Given the description of an element on the screen output the (x, y) to click on. 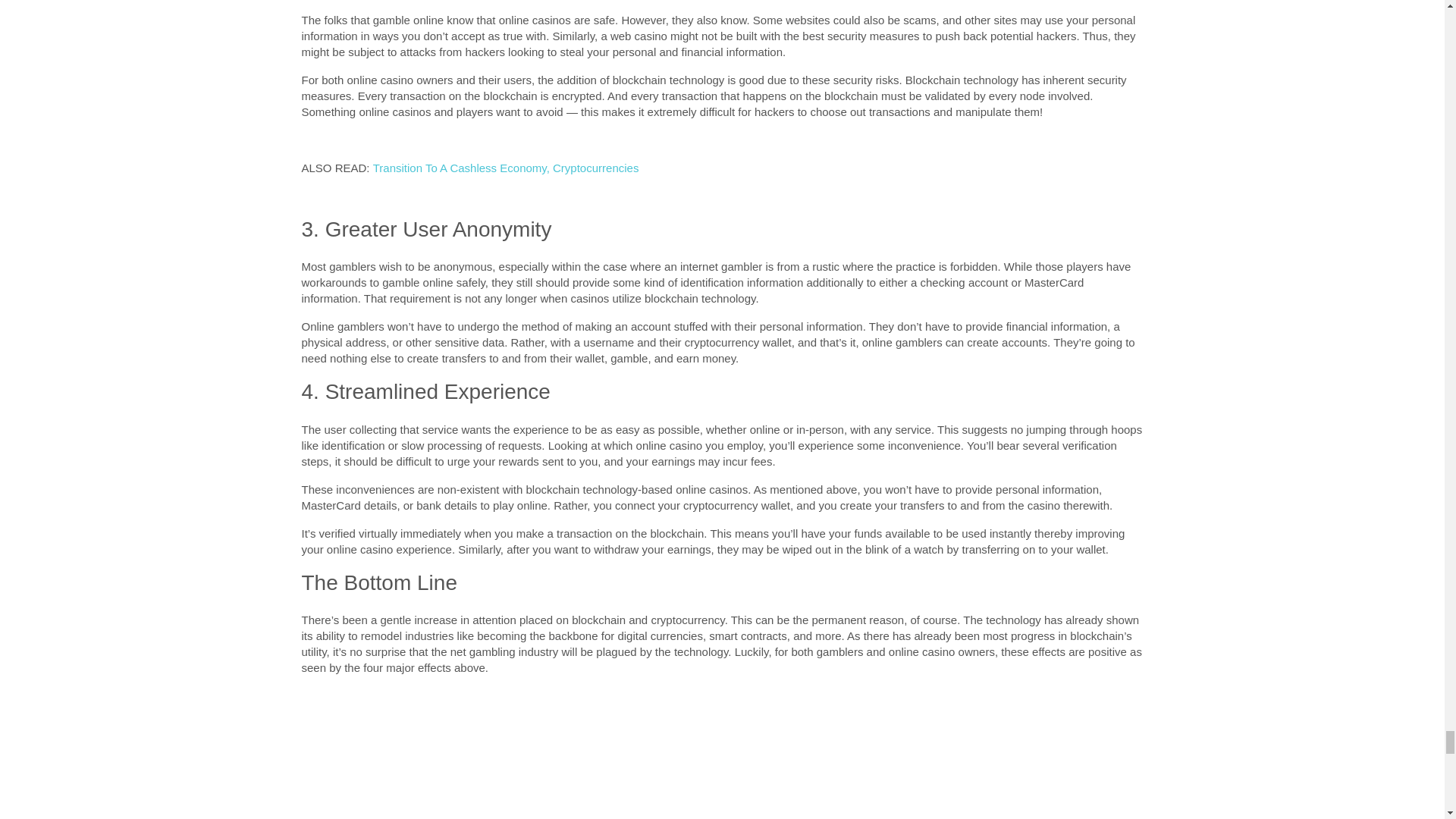
YouTube player (578, 767)
